Given the description of an element on the screen output the (x, y) to click on. 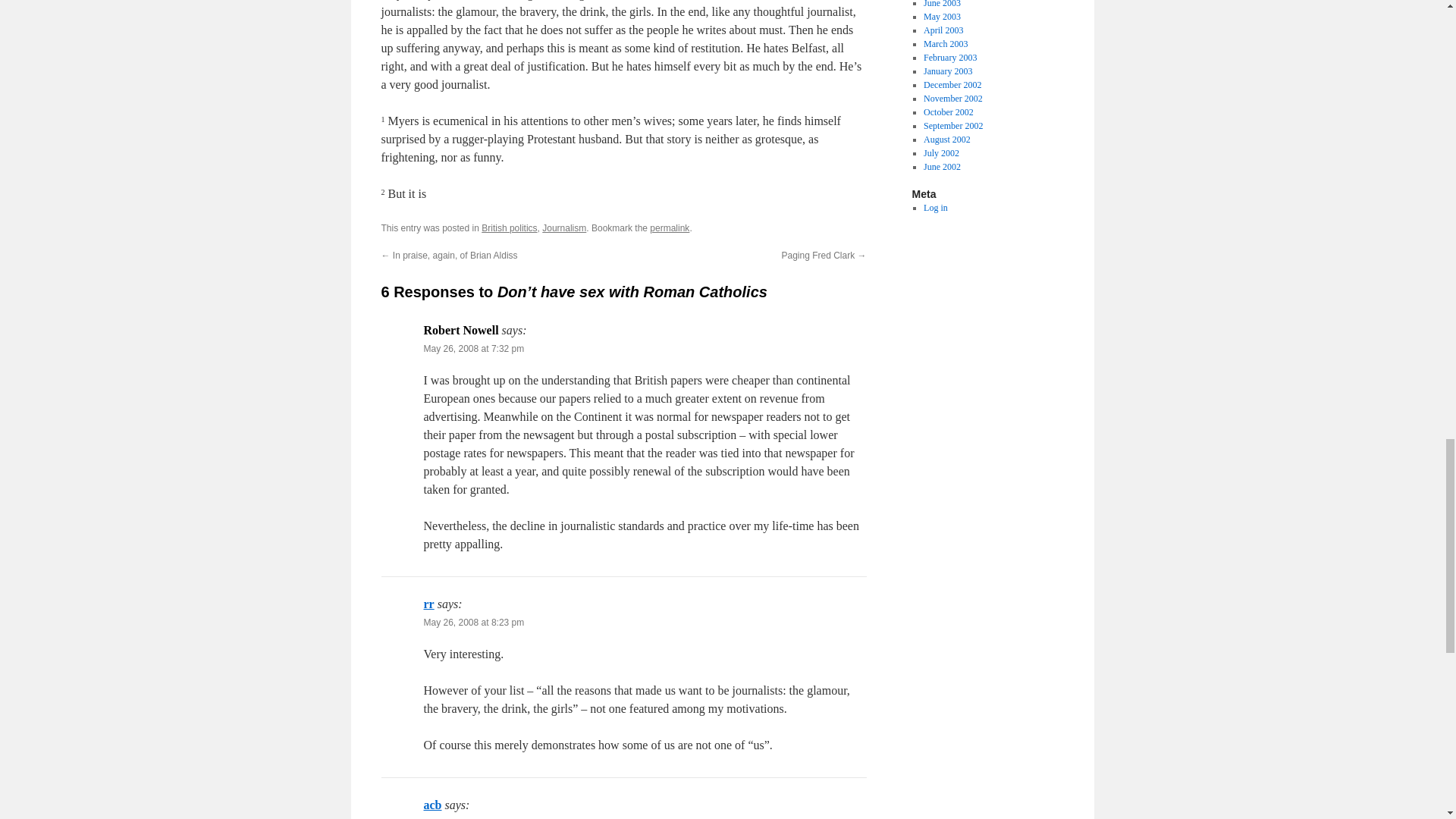
May 26, 2008 at 8:23 pm (473, 622)
May 26, 2008 at 7:32 pm (473, 348)
acb (432, 804)
permalink (668, 227)
British politics (509, 227)
Journalism (563, 227)
